Given the description of an element on the screen output the (x, y) to click on. 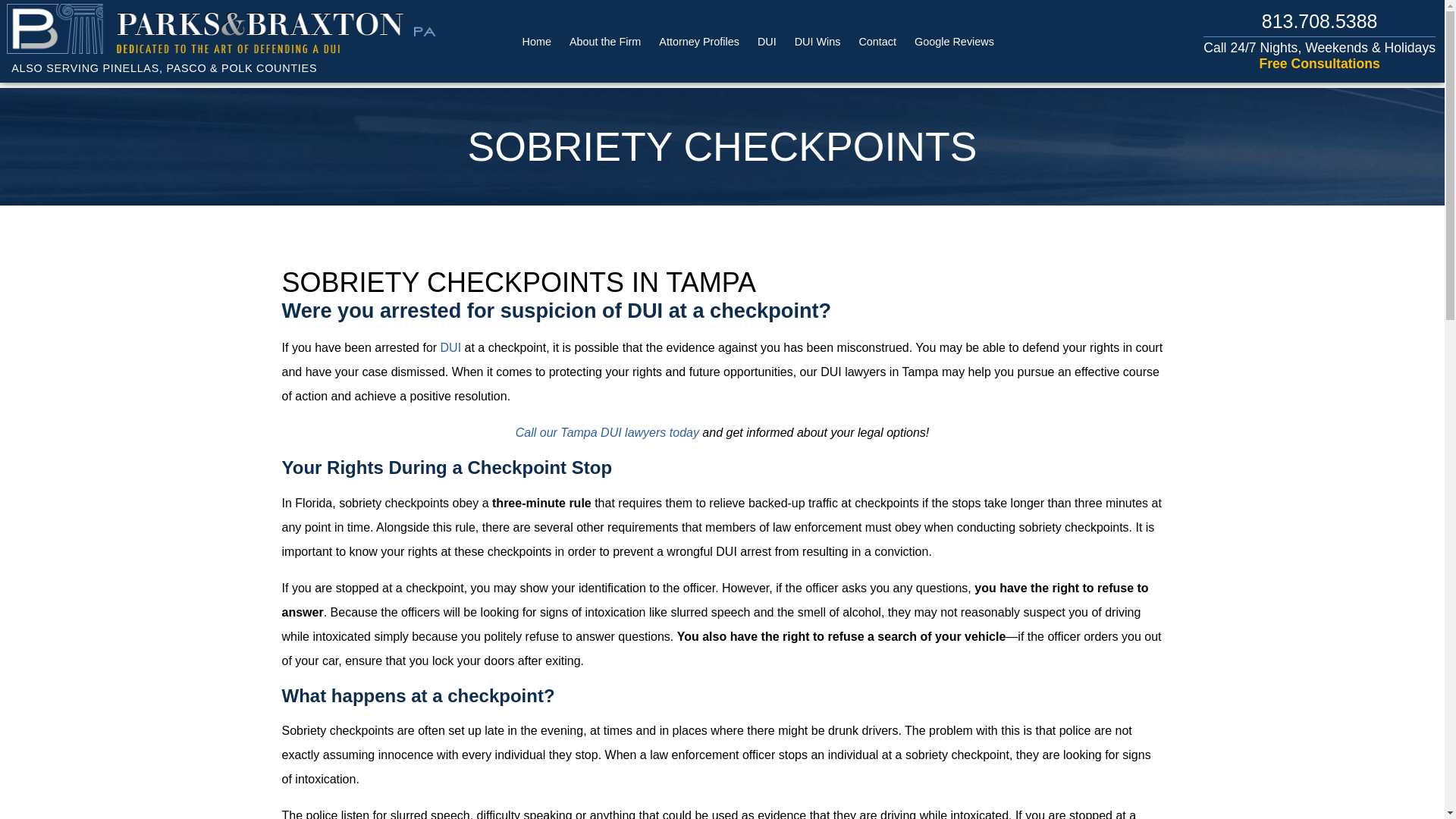
Call our Tampa DUI lawyers today (606, 431)
Attorney Profiles (699, 41)
About the Firm (604, 41)
Google Reviews (954, 41)
Home (536, 41)
DUI Wins (817, 41)
Contact (877, 41)
DUI (451, 347)
813.708.5388 (1319, 20)
